Given the description of an element on the screen output the (x, y) to click on. 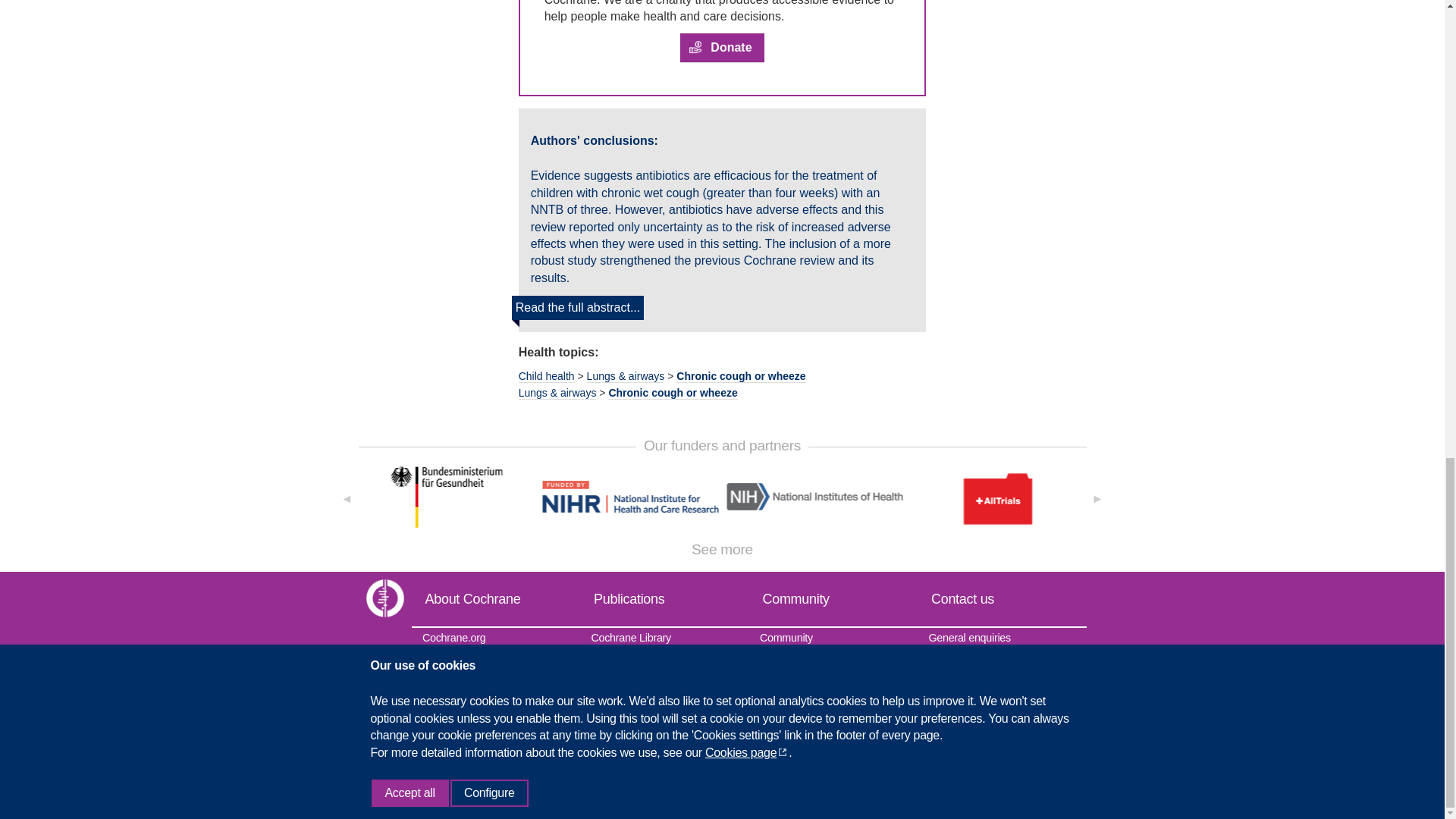
Chronic cough or wheeze (672, 392)
Chronic cough or wheeze (741, 376)
Donate (720, 48)
Child health (546, 376)
